Given the description of an element on the screen output the (x, y) to click on. 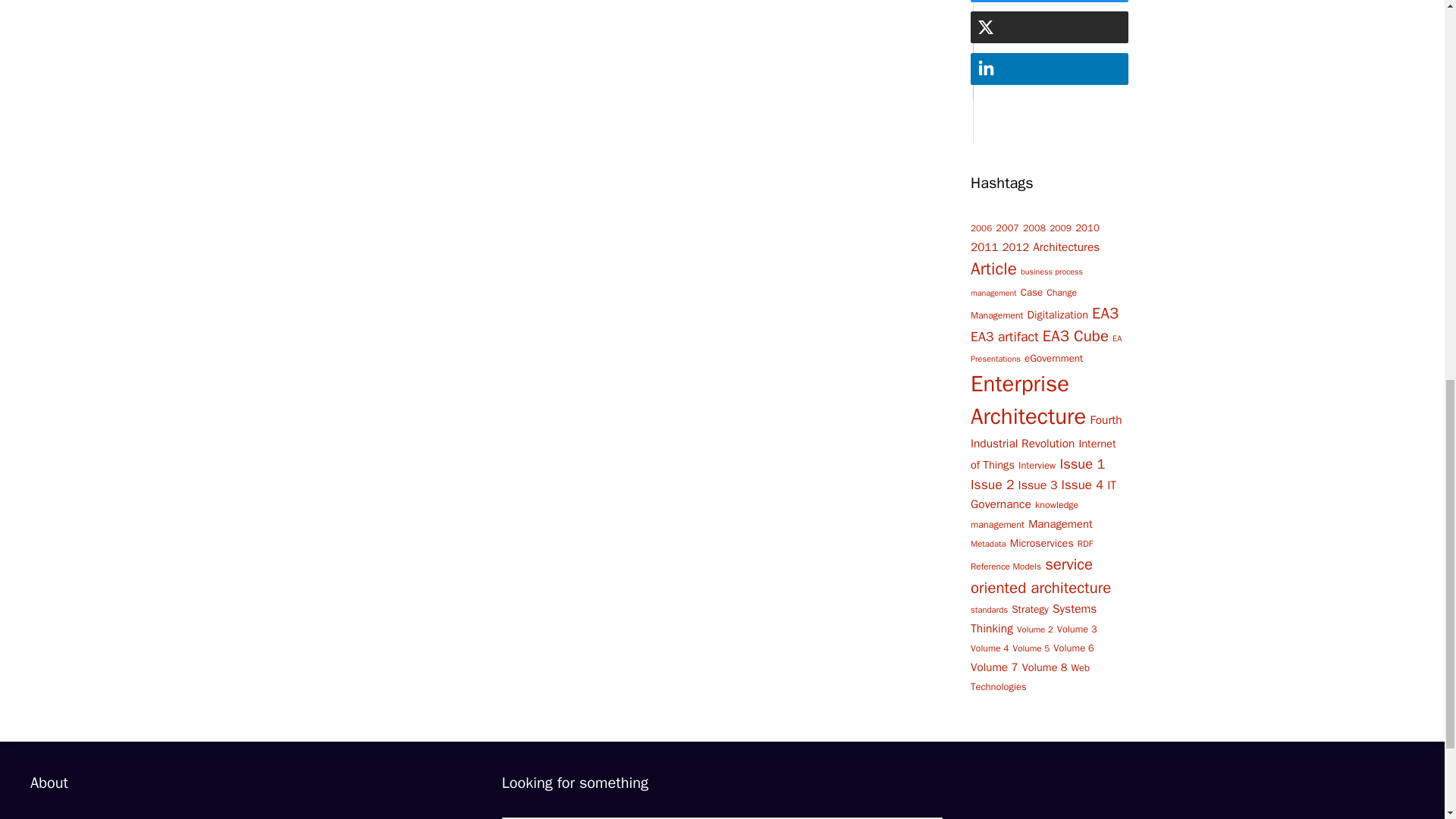
Scroll back to top (1406, 720)
Login with Linkedin (985, 68)
Login with X (985, 26)
